Given the description of an element on the screen output the (x, y) to click on. 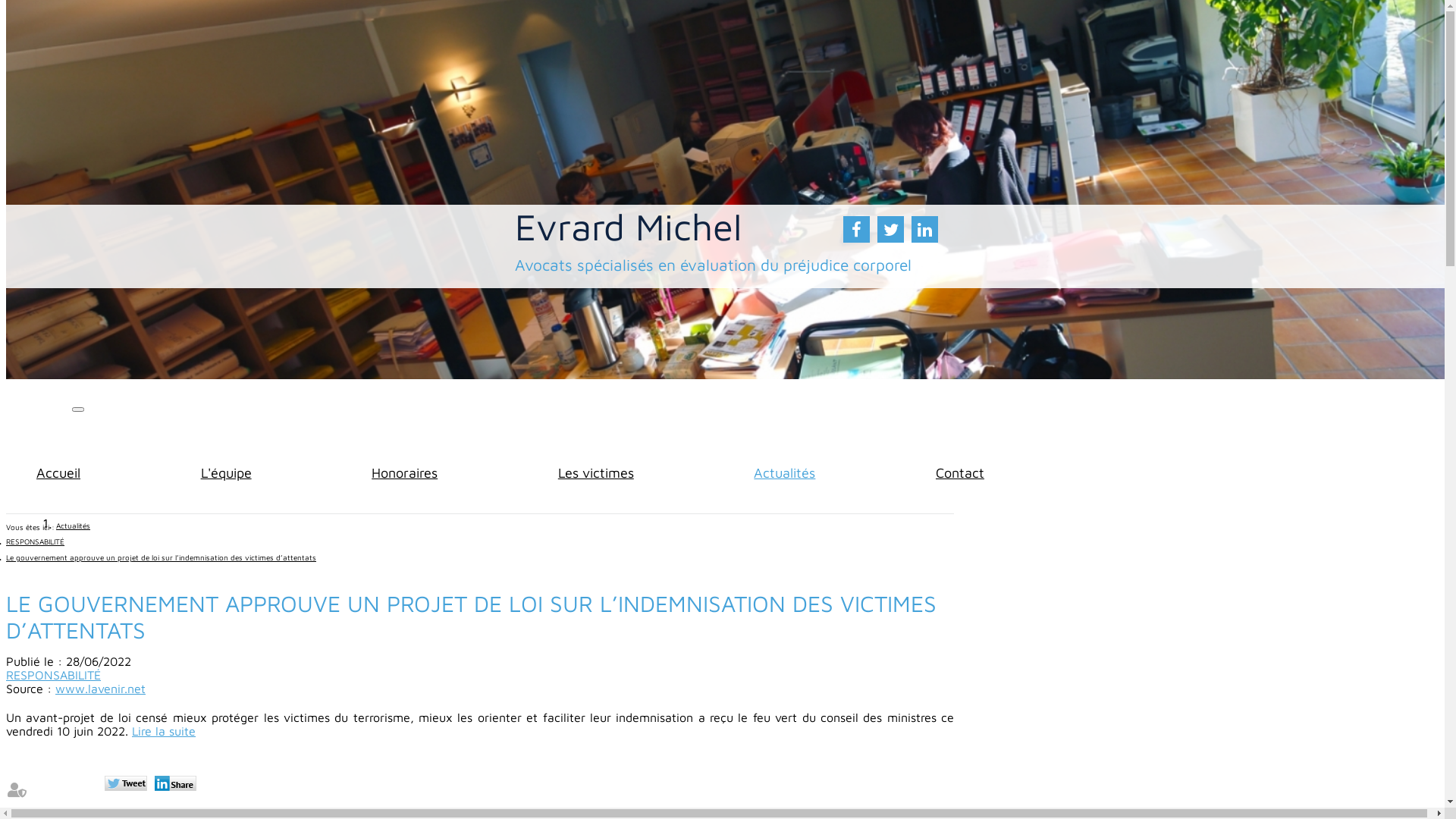
Partager sur LinkedIn Element type: hover (177, 784)
Lire la suite Element type: text (163, 730)
facebook Element type: hover (856, 229)
www.lavenir.net Element type: text (100, 688)
Tweeter cet article Element type: hover (127, 784)
Les victimes Element type: text (595, 472)
twitter Element type: hover (890, 229)
MENU Element type: text (39, 430)
Ouvrir le menu Element type: text (78, 409)
linkedin Element type: hover (924, 229)
Contact Element type: text (959, 472)
Honoraires Element type: text (404, 472)
Accueil Element type: text (58, 472)
